Given the description of an element on the screen output the (x, y) to click on. 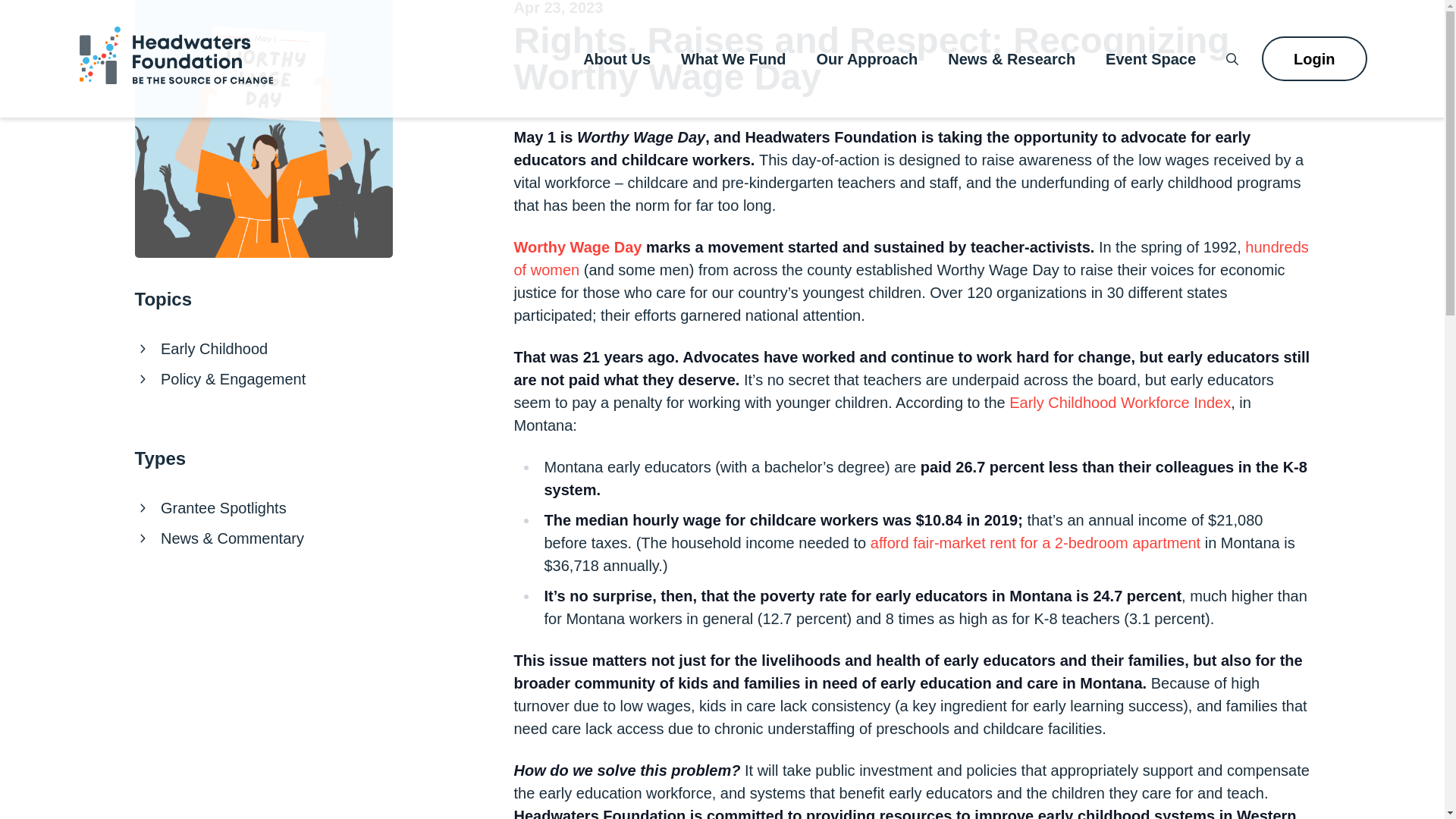
About Us (616, 58)
Event Space (1150, 58)
What We Fund (733, 58)
Our Approach (867, 58)
Login (1314, 58)
